Given the description of an element on the screen output the (x, y) to click on. 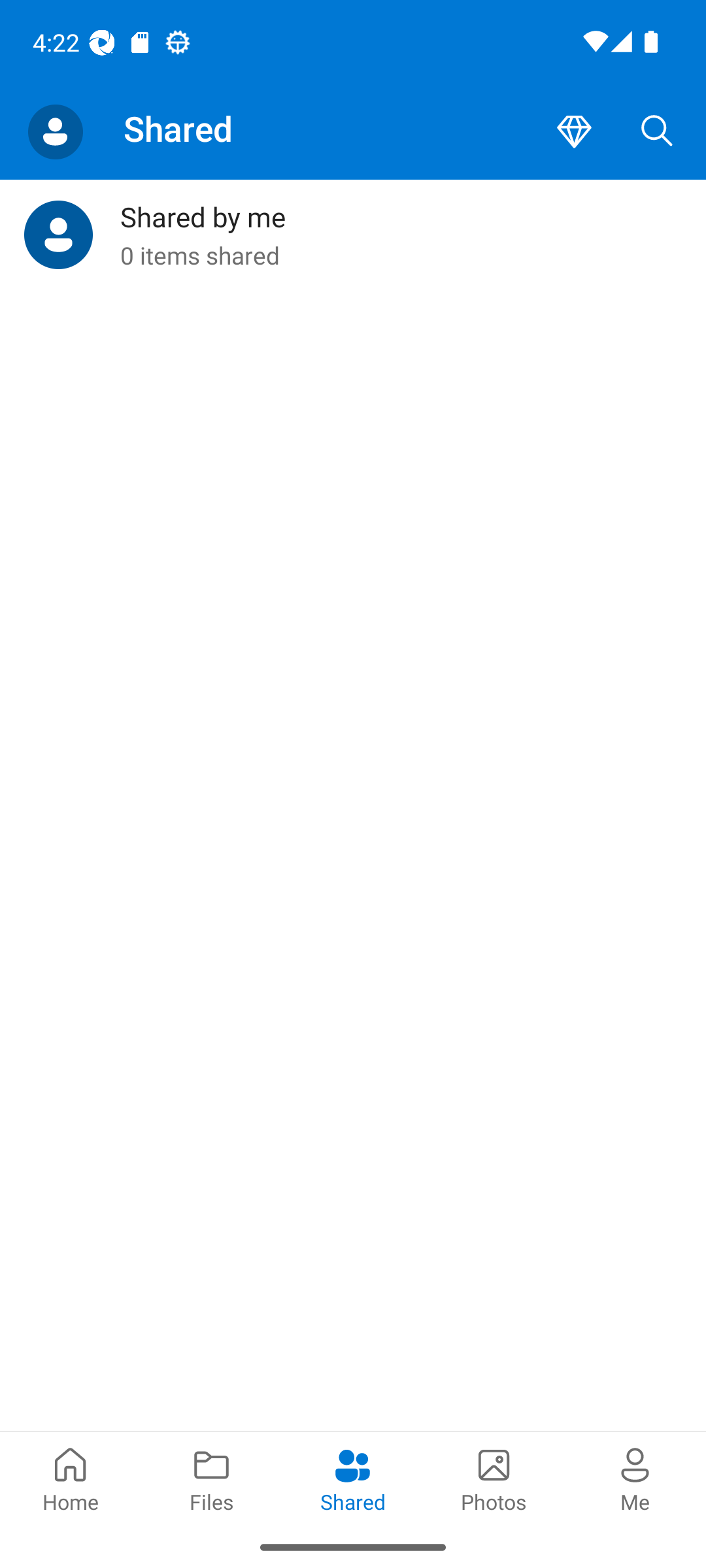
Account switcher (55, 131)
Premium button (574, 131)
Search button (656, 131)
0 Shared by me 0 items shared (353, 235)
Home pivot Home (70, 1478)
Files pivot Files (211, 1478)
Photos pivot Photos (493, 1478)
Me pivot Me (635, 1478)
